Given the description of an element on the screen output the (x, y) to click on. 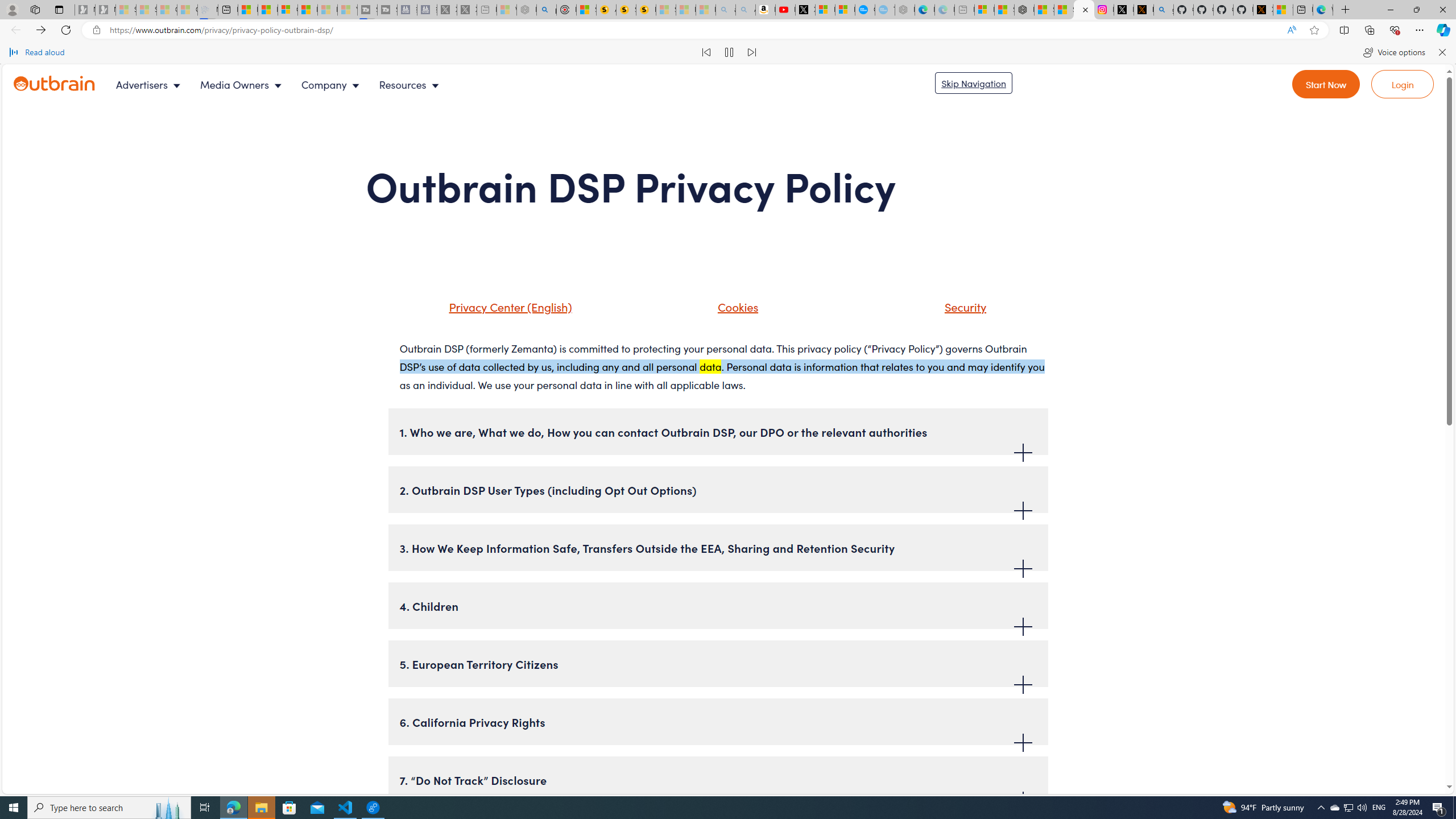
6. California Privacy Rights (717, 721)
2. Outbrain DSP User Types (including Opt Out Options) (717, 489)
5. European Territory Citizens (717, 663)
Cookies (734, 305)
Skip navigation to go to main content (972, 83)
